Given the description of an element on the screen output the (x, y) to click on. 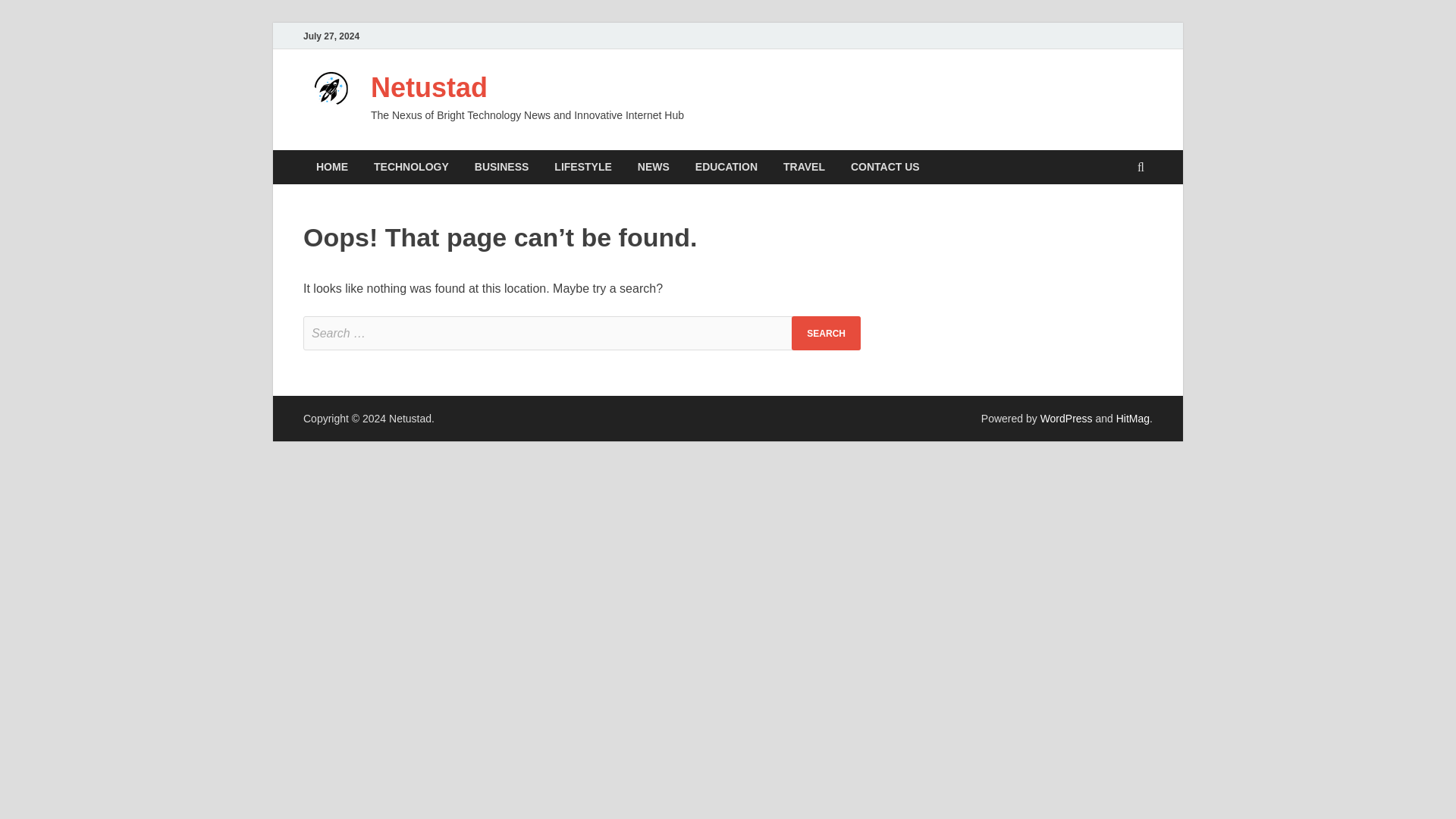
BUSINESS (501, 166)
Search (826, 333)
Search (826, 333)
LIFESTYLE (582, 166)
TRAVEL (804, 166)
Netustad (429, 87)
HOME (331, 166)
CONTACT US (885, 166)
EDUCATION (726, 166)
Search (826, 333)
TECHNOLOGY (411, 166)
NEWS (653, 166)
